Given the description of an element on the screen output the (x, y) to click on. 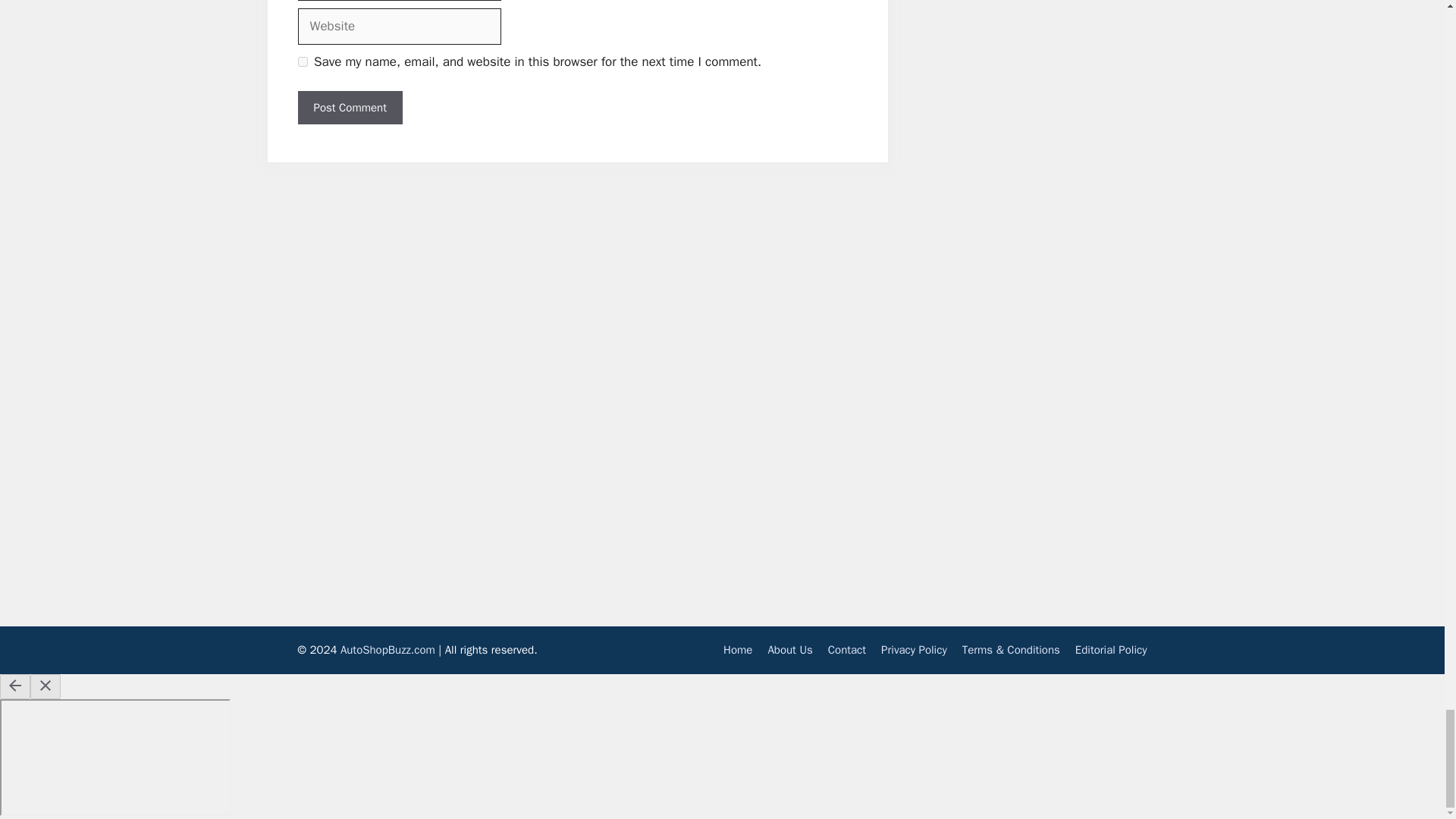
Post Comment (349, 107)
yes (302, 61)
Post Comment (349, 107)
